Given the description of an element on the screen output the (x, y) to click on. 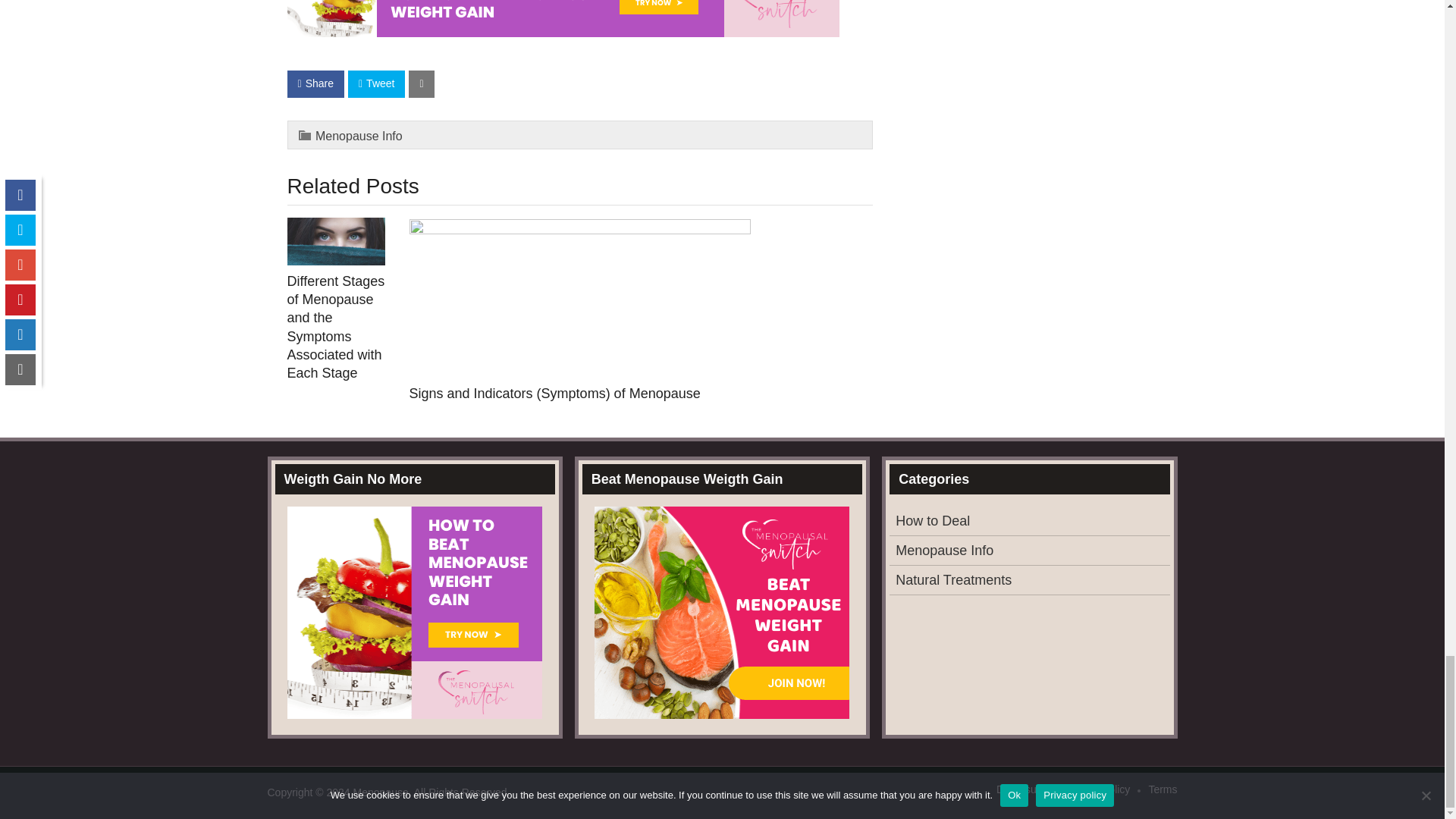
Tweet (375, 83)
Menopause Weigth Gain No More (562, 31)
Menopause Weigth Gain No More (562, 18)
Share On Facebook (314, 83)
Share (314, 83)
Tweet on Twitter (375, 83)
